Given the description of an element on the screen output the (x, y) to click on. 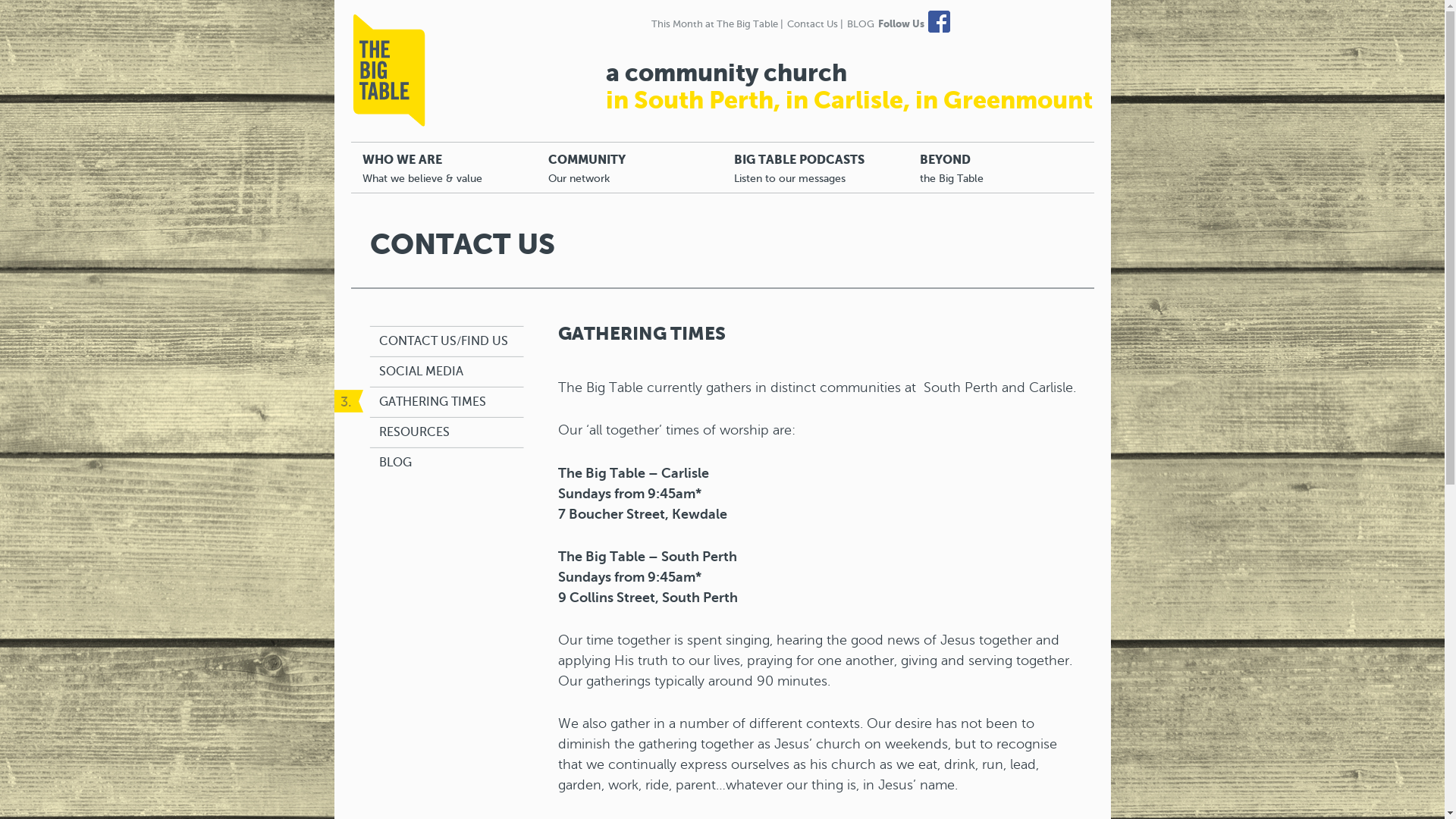
RESOURCES Element type: text (414, 432)
Skip to secondary content Element type: text (432, 149)
WHO WE ARE
What we believe & value Element type: text (443, 167)
Contact Us | Element type: text (815, 23)
Search Element type: text (27, 9)
COMMUNITY
Our network Element type: text (629, 167)
BLOG Element type: text (395, 462)
BIG TABLE PODCASTS
Listen to our messages Element type: text (814, 167)
BLOG Element type: text (859, 23)
Facebook Element type: text (939, 22)
BEYOND
the Big Table Element type: text (1001, 167)
CONTACT US/FIND US Element type: text (443, 341)
The Big Table Element type: text (389, 70)
This Month at The Big Table | Element type: text (716, 23)
in South Perth, in Carlisle, in Greenmount Element type: text (848, 99)
Skip to primary content Element type: text (422, 149)
Follow Us Element type: text (901, 23)
SOCIAL MEDIA Element type: text (421, 371)
GATHERING TIMES Element type: text (432, 401)
